Given the description of an element on the screen output the (x, y) to click on. 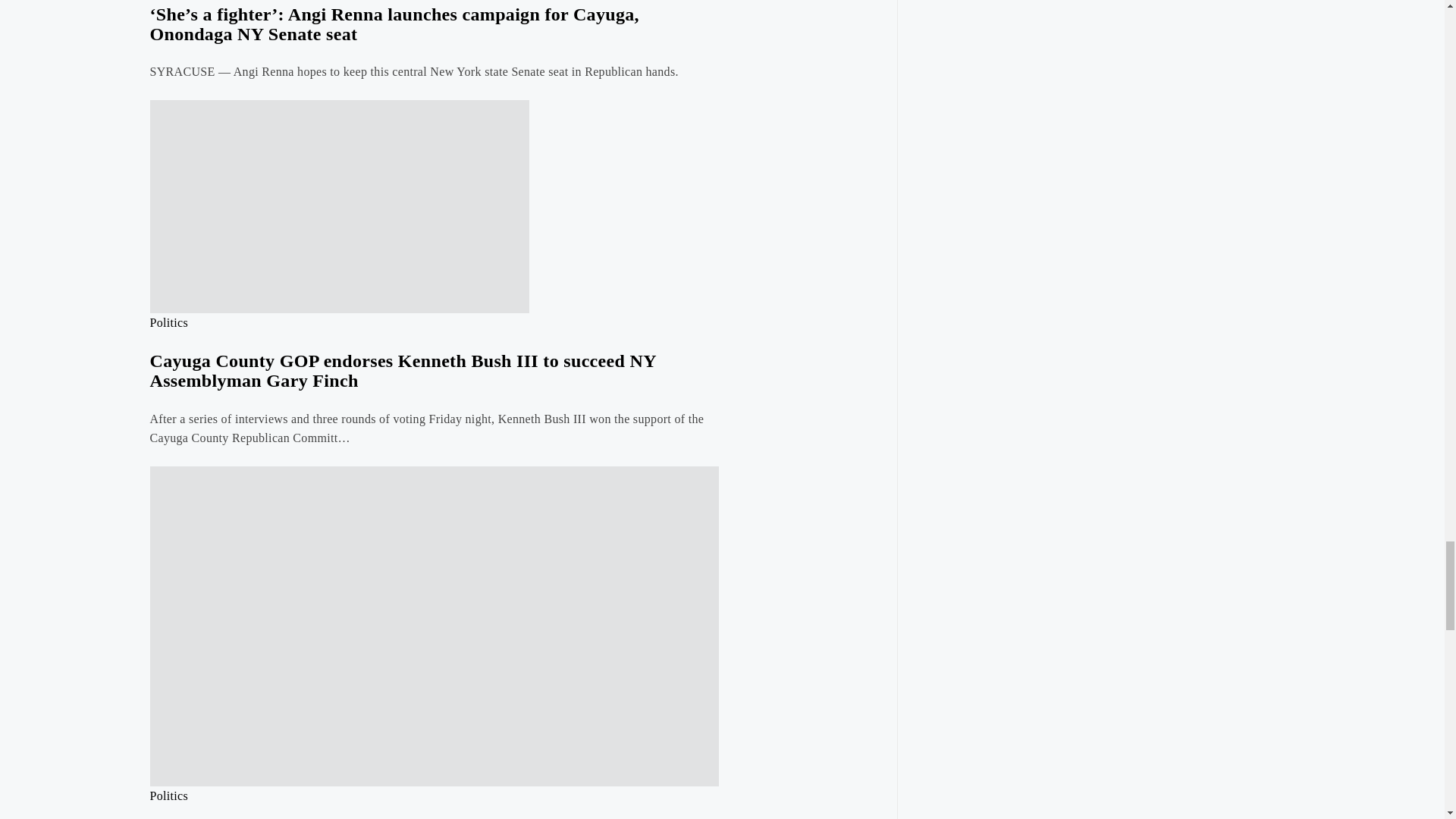
Politics (169, 795)
Politics (169, 322)
